Given the description of an element on the screen output the (x, y) to click on. 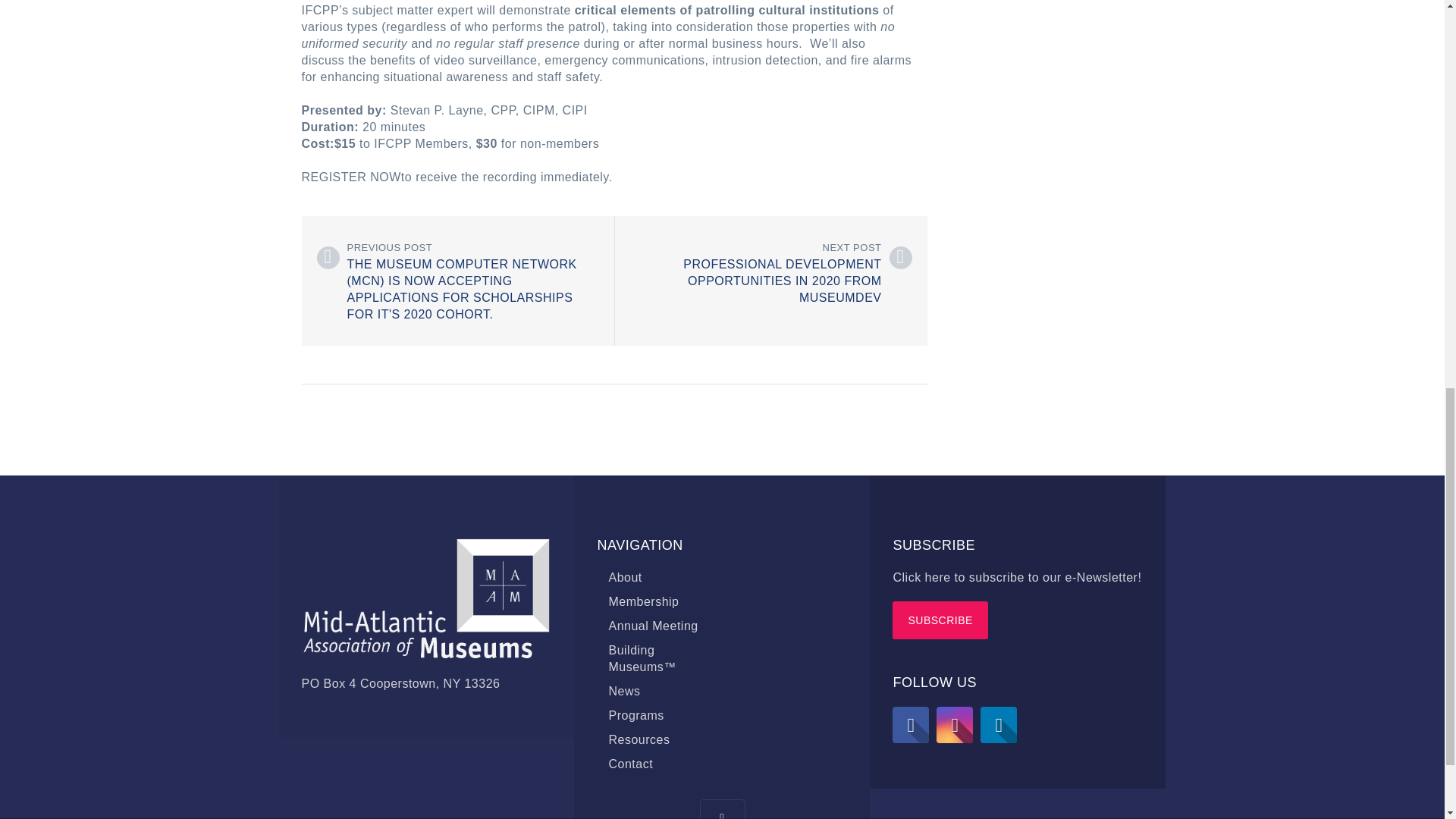
Instagram (954, 724)
Facebook (910, 724)
Linkedin (997, 724)
